Given the description of an element on the screen output the (x, y) to click on. 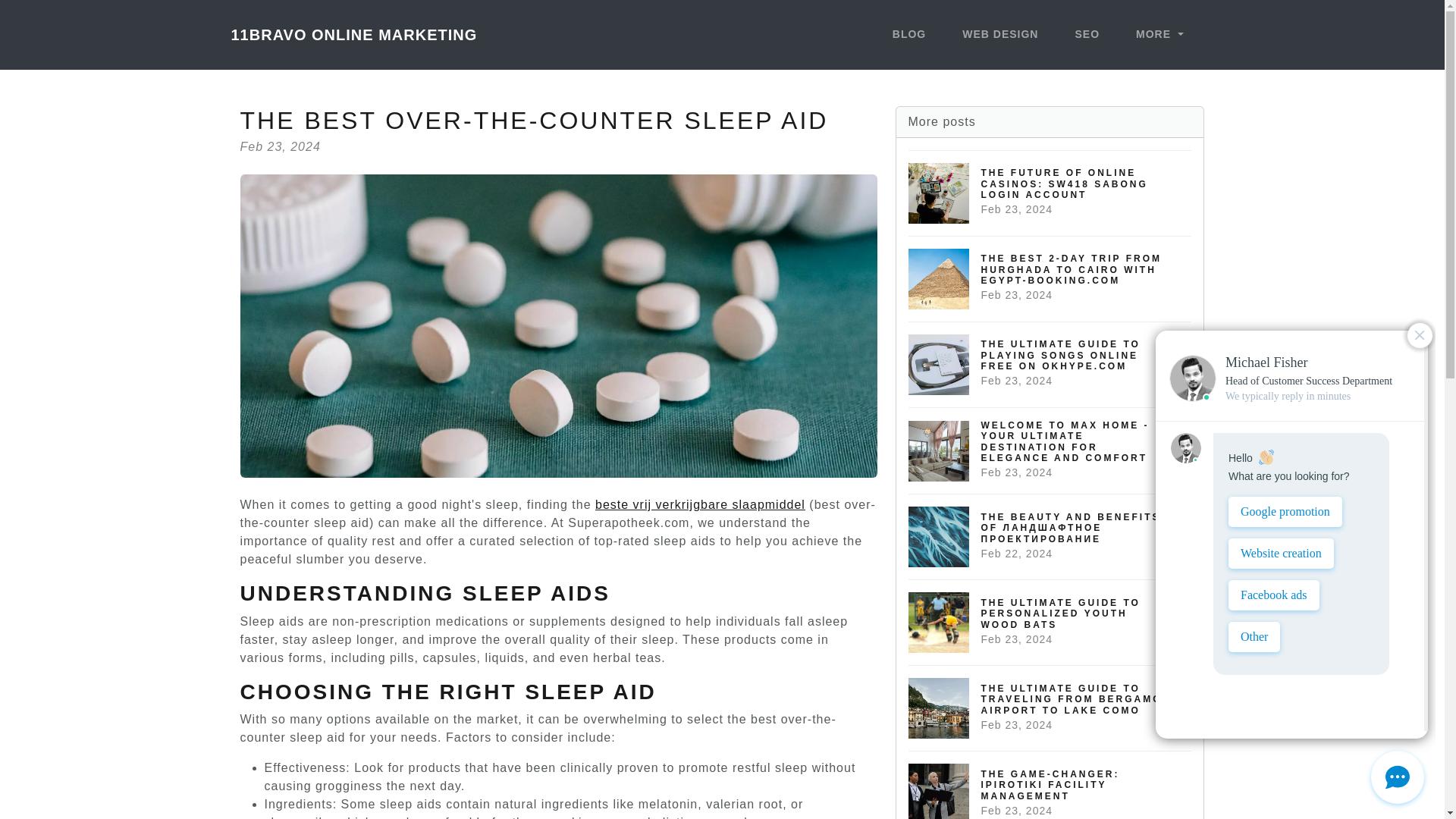
WEB DESIGN (999, 34)
11BRAVO ONLINE MARKETING (353, 34)
SEO (1086, 34)
BLOG (908, 34)
MORE (1159, 34)
beste vrij verkrijgbare slaapmiddel (700, 504)
